Given the description of an element on the screen output the (x, y) to click on. 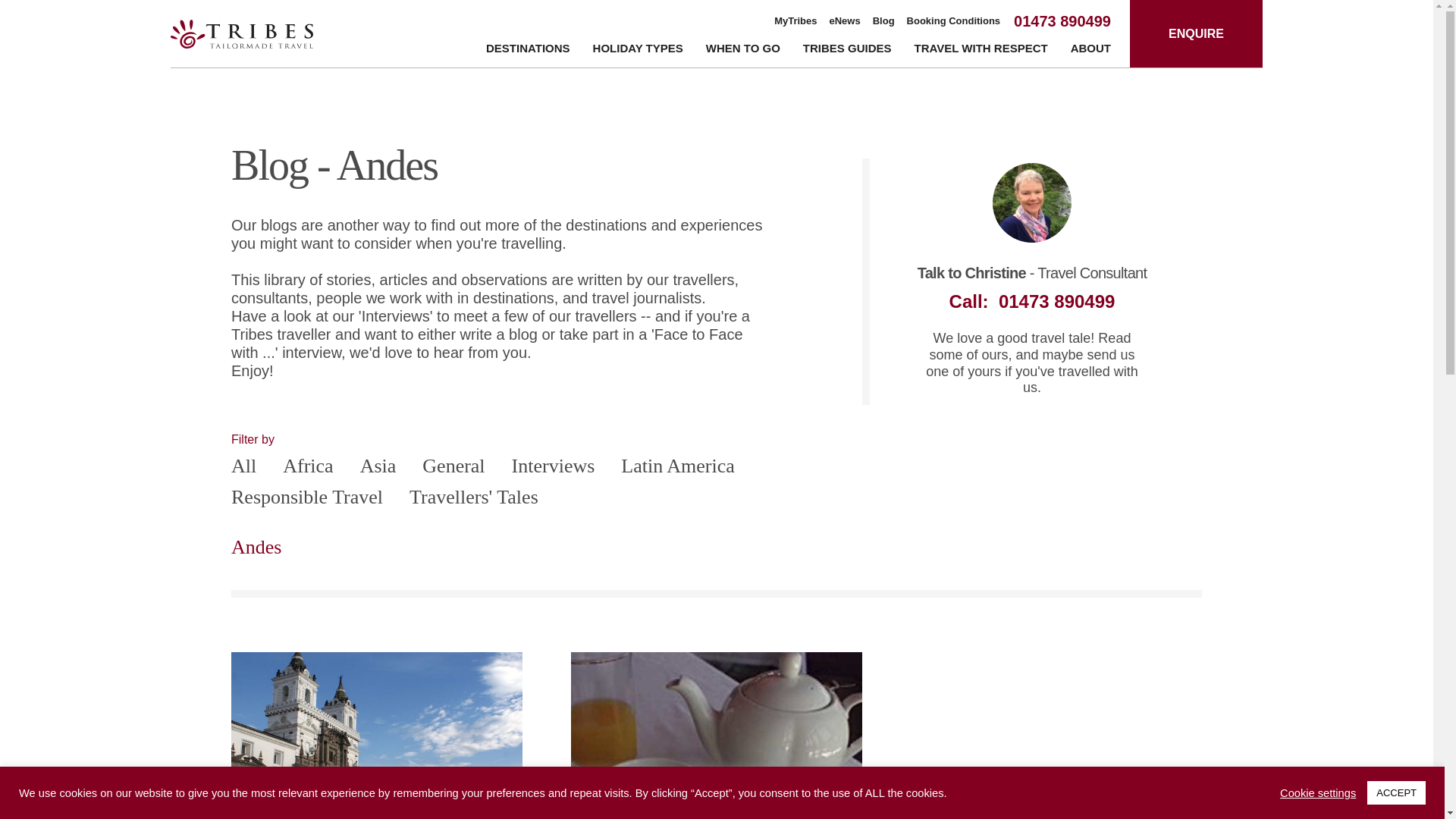
Destinations (528, 50)
TRAVEL WITH RESPECT (981, 50)
eNews (844, 21)
Blog (883, 21)
MyTribes (795, 21)
DESTINATIONS (528, 50)
Booking Conditions (953, 21)
WHEN TO GO (743, 50)
HOLIDAY TYPES (637, 50)
ABOUT (1090, 50)
Tribes (241, 33)
Tribes (241, 33)
TRIBES GUIDES (847, 50)
